Given the description of an element on the screen output the (x, y) to click on. 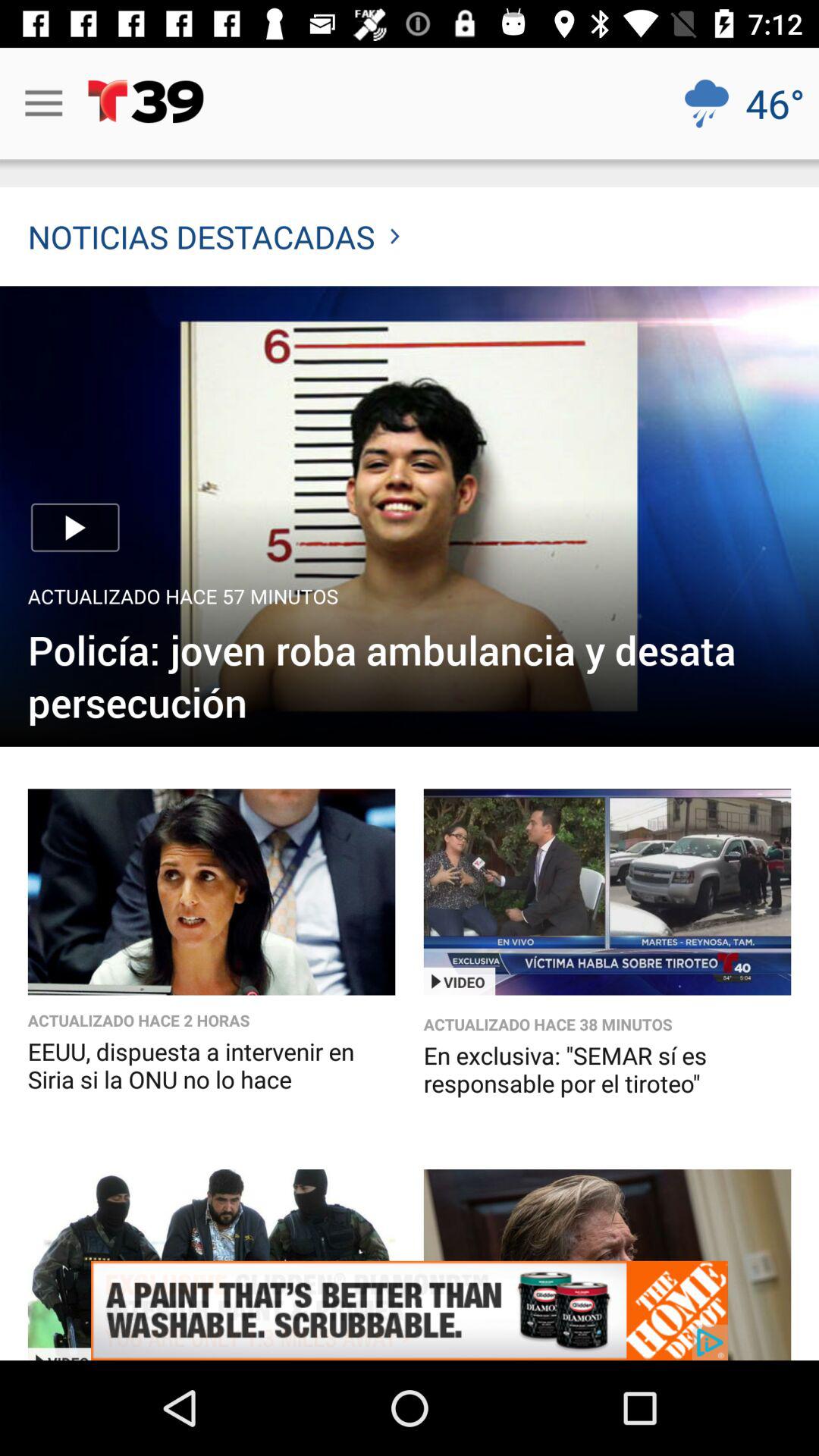
turn off icon below en exclusiva semar item (409, 1310)
